Given the description of an element on the screen output the (x, y) to click on. 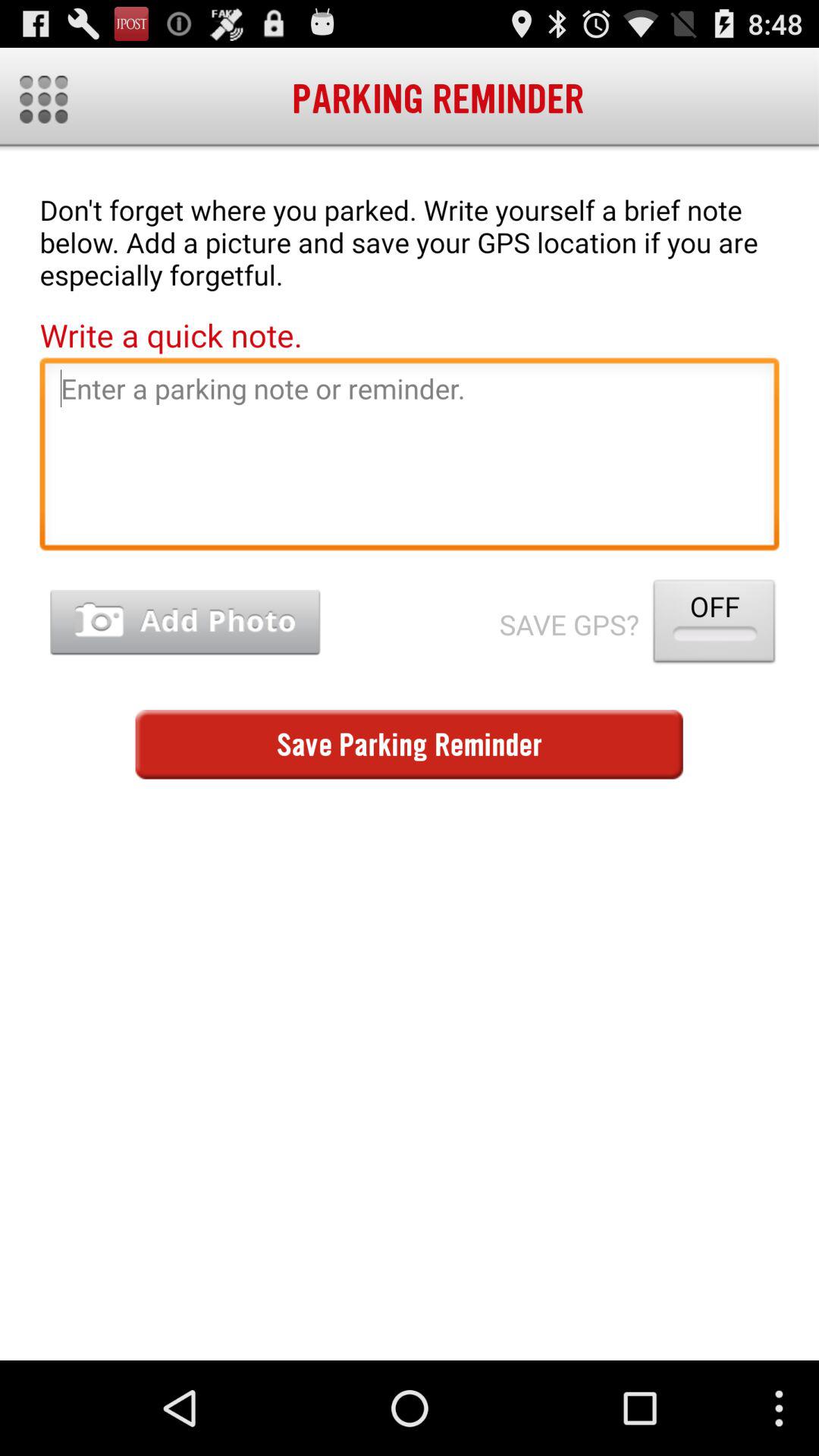
start typing (409, 457)
